Given the description of an element on the screen output the (x, y) to click on. 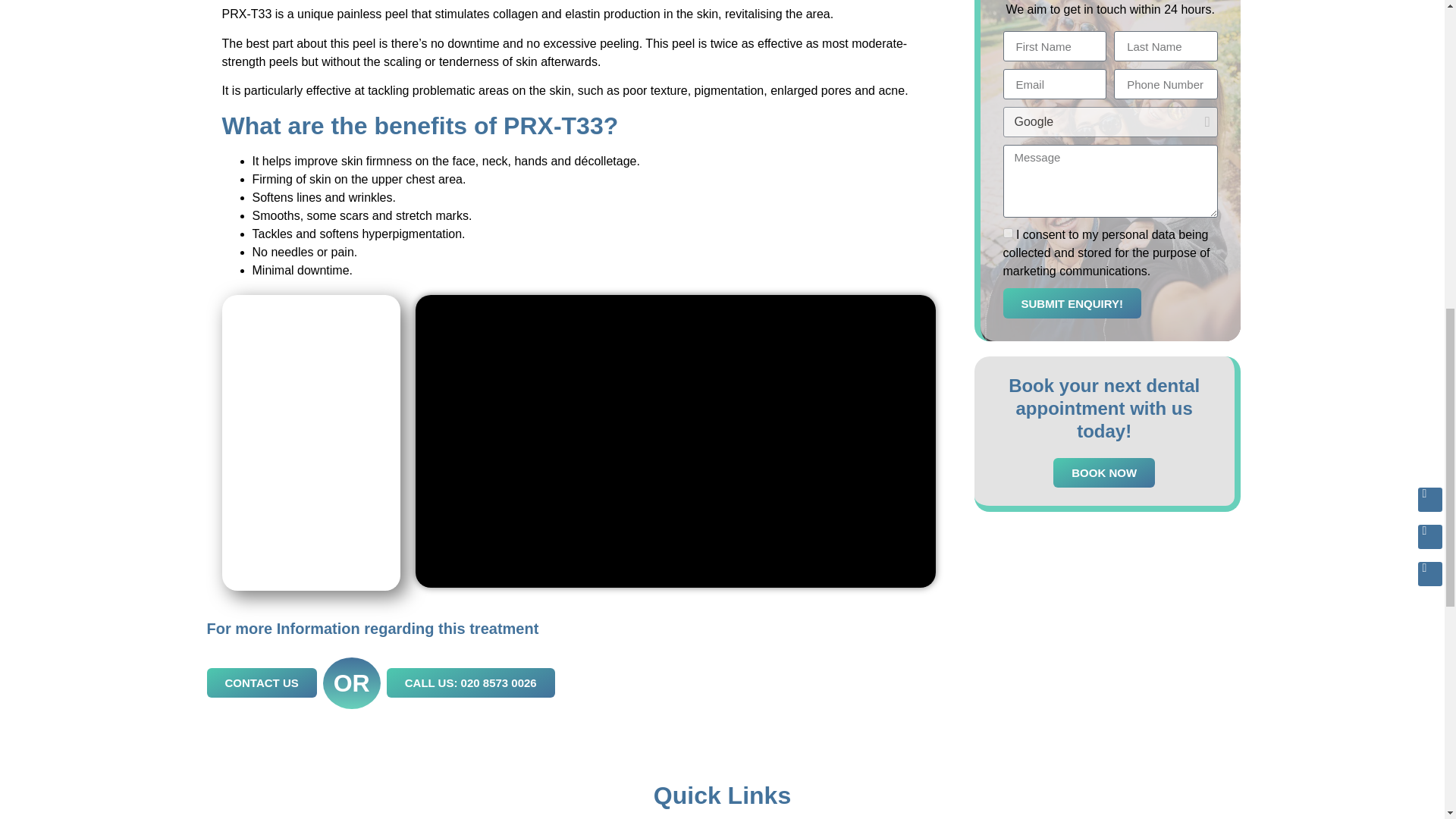
on (1008, 233)
